Given the description of an element on the screen output the (x, y) to click on. 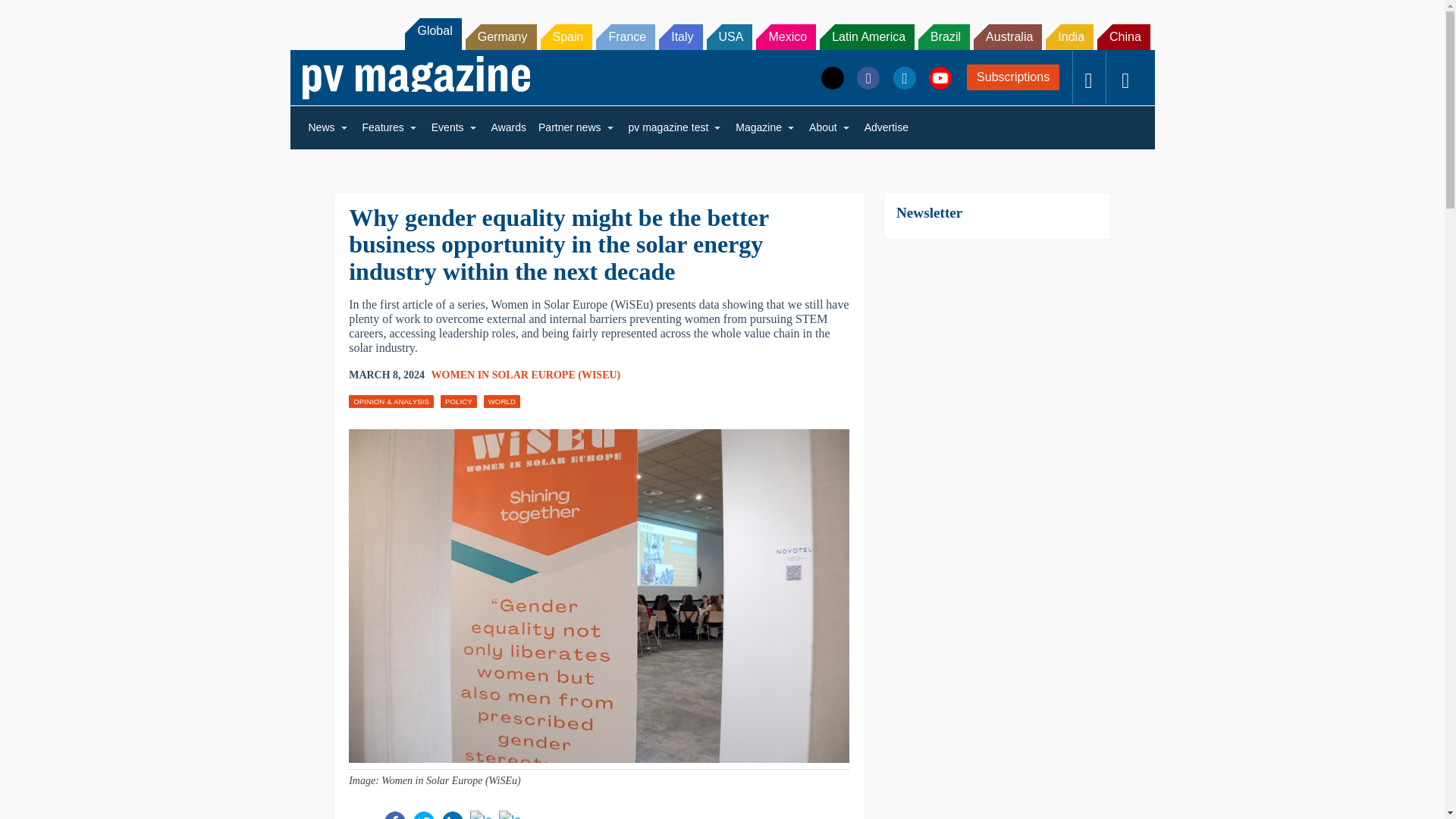
USA (729, 36)
Search (32, 15)
pv magazine - Photovoltaics Markets and Technology (415, 77)
Germany (501, 36)
Friday, March 8, 2024, 2:14 pm (387, 375)
pv magazine - Photovoltaics Markets and Technology (415, 77)
Italy (680, 36)
Subscriptions (1012, 77)
Brazil (943, 36)
Australia (1008, 36)
China (1123, 36)
Latin America (866, 36)
India (1069, 36)
France (625, 36)
Global (432, 33)
